Given the description of an element on the screen output the (x, y) to click on. 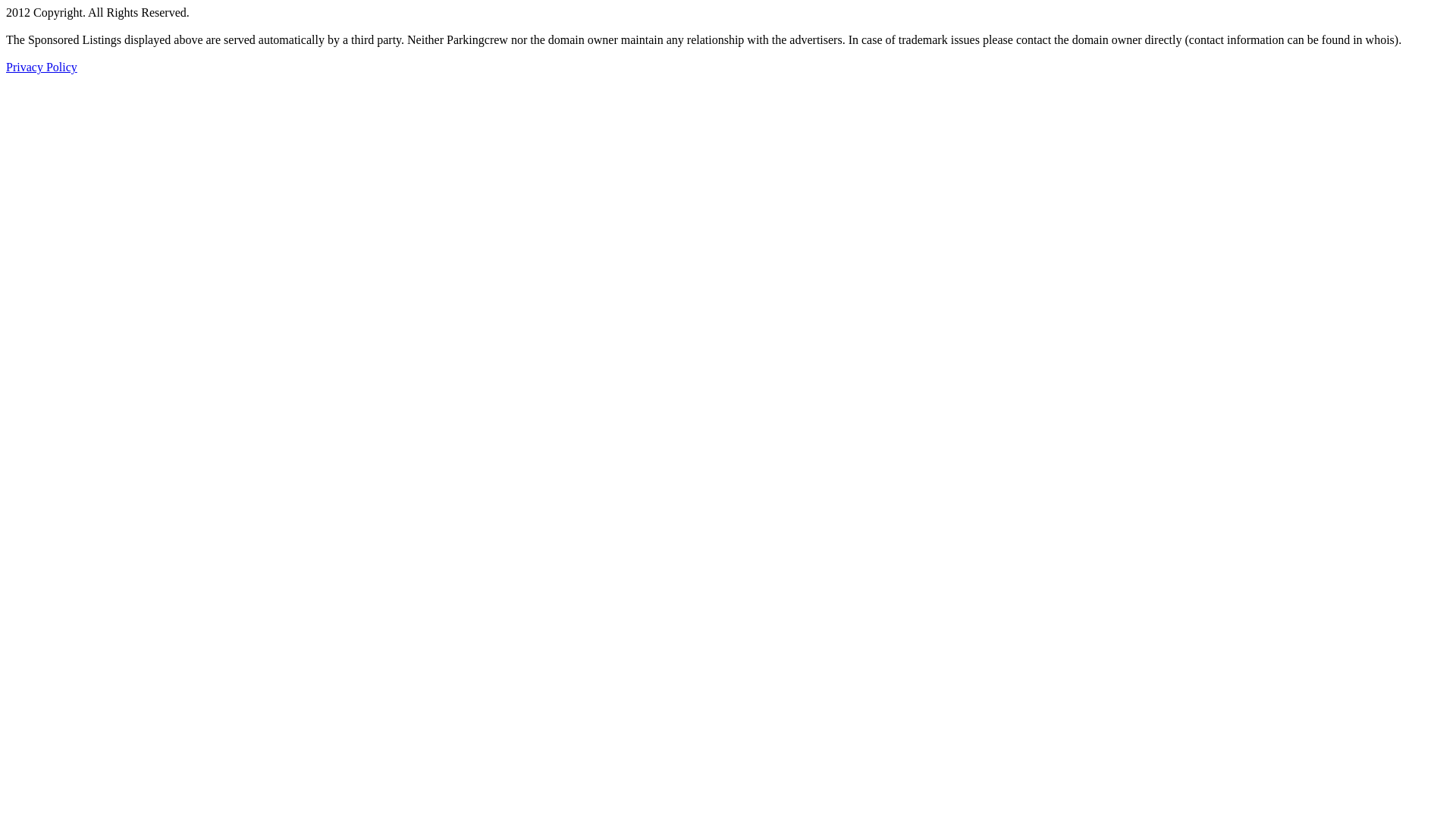
Privacy Policy Element type: text (41, 66)
